Given the description of an element on the screen output the (x, y) to click on. 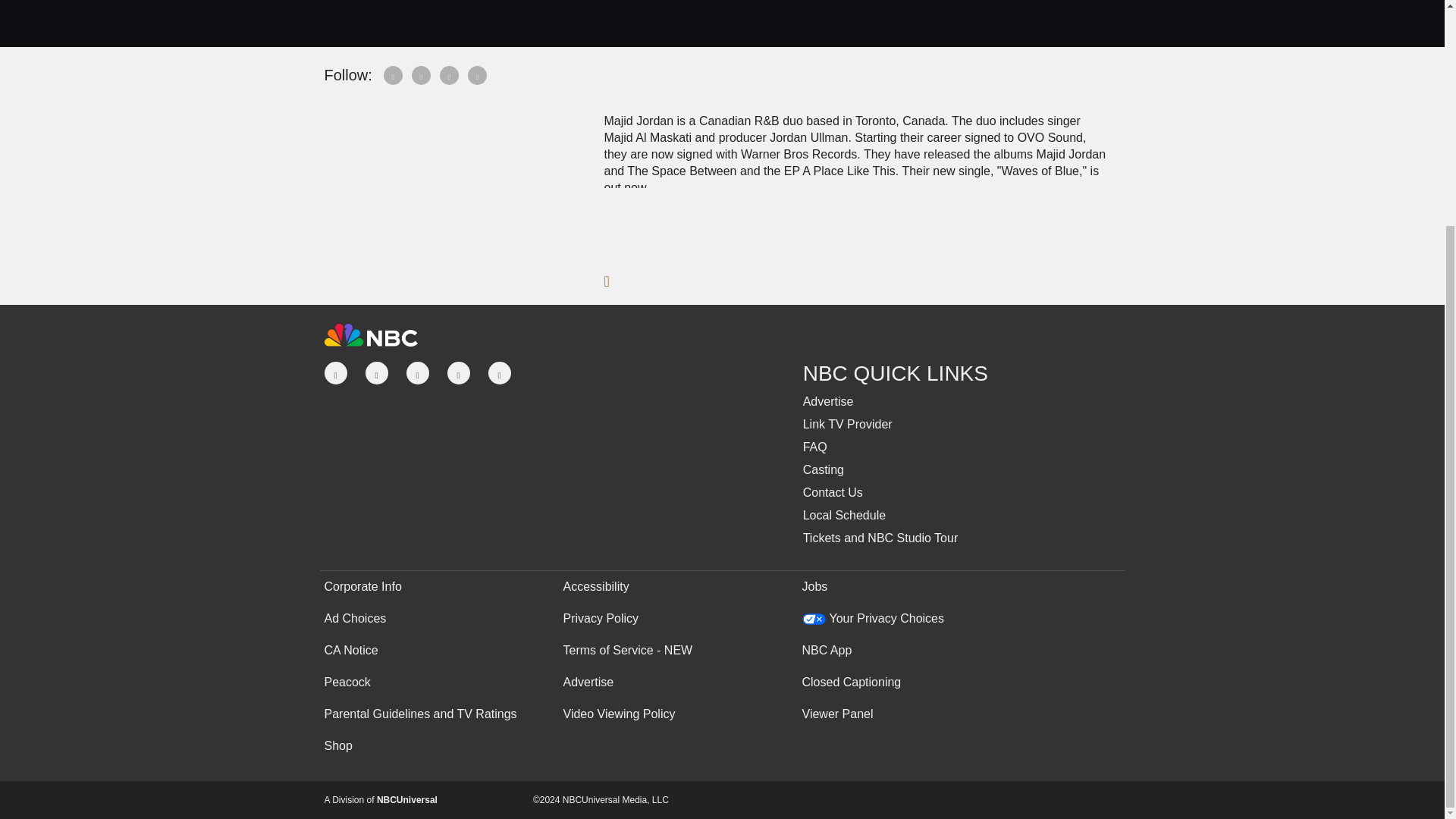
Twitter (421, 74)
Instagram (477, 74)
Youtube (449, 74)
Spotify (393, 74)
